Given the description of an element on the screen output the (x, y) to click on. 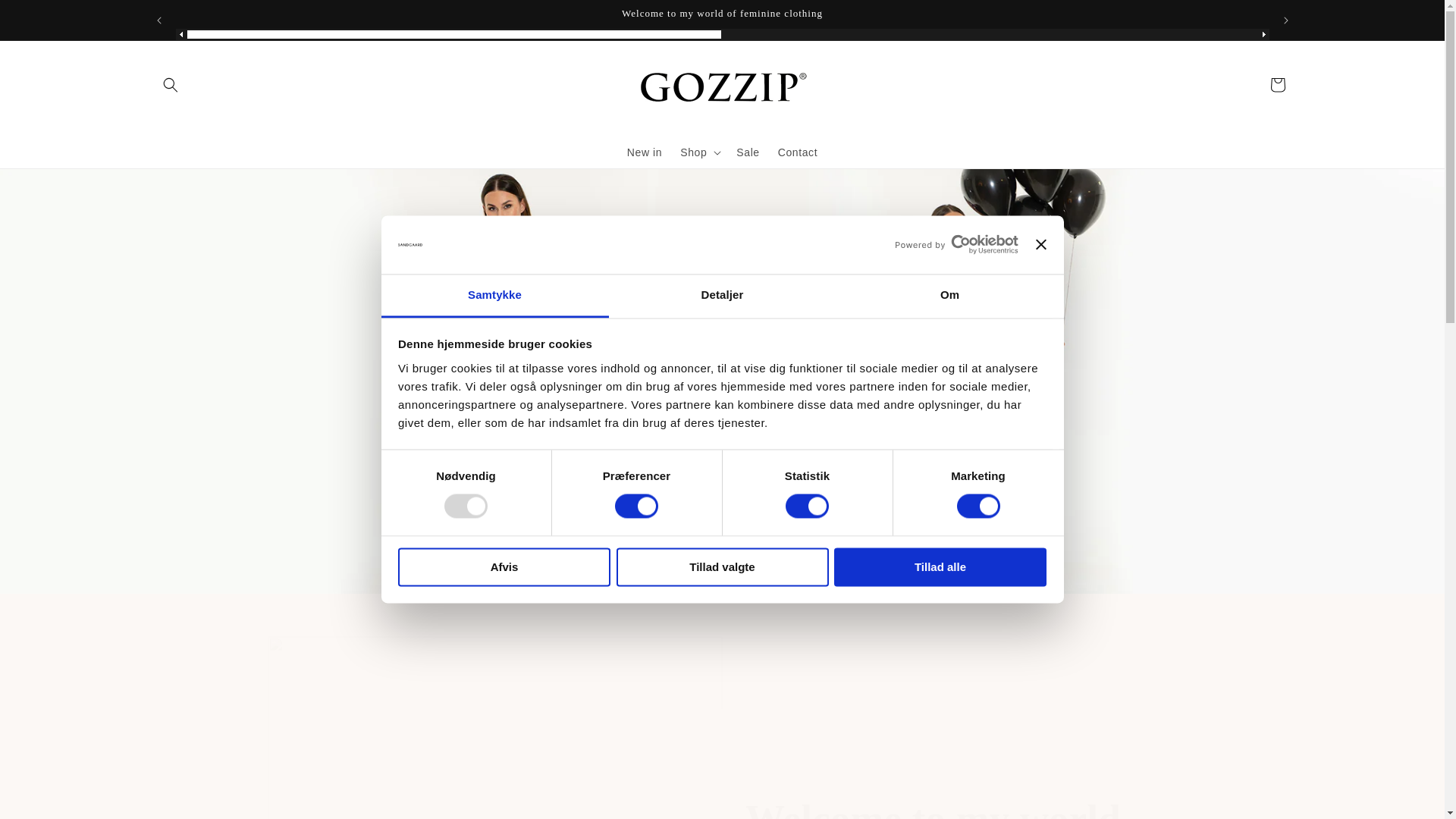
Afvis (503, 566)
Om (948, 295)
Tillad alle (940, 566)
Tillad valgte (721, 566)
Detaljer (721, 295)
Samtykke (494, 295)
